Given the description of an element on the screen output the (x, y) to click on. 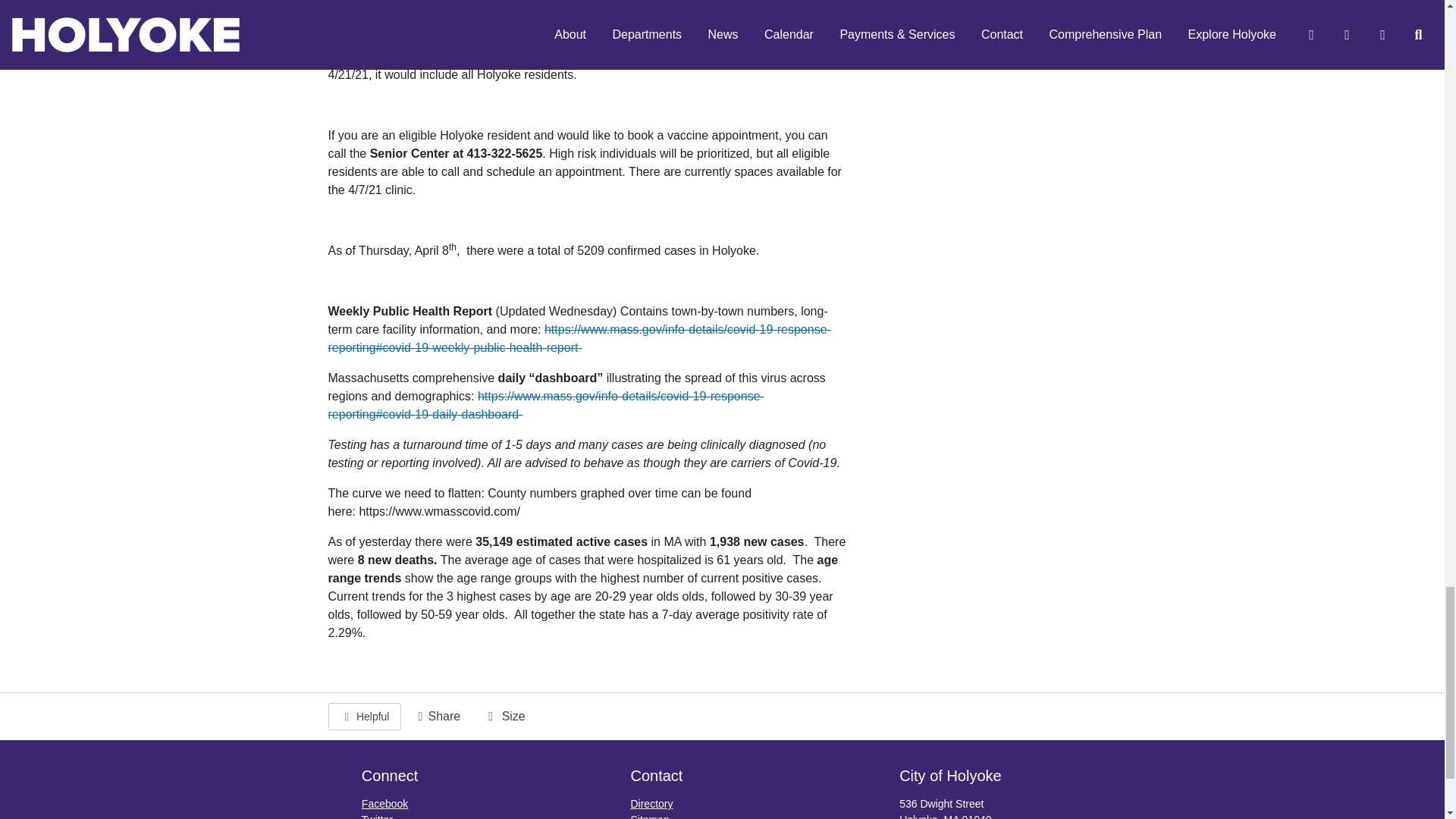
Helpful (364, 716)
Share (436, 716)
This page makes me proud (364, 716)
